Given the description of an element on the screen output the (x, y) to click on. 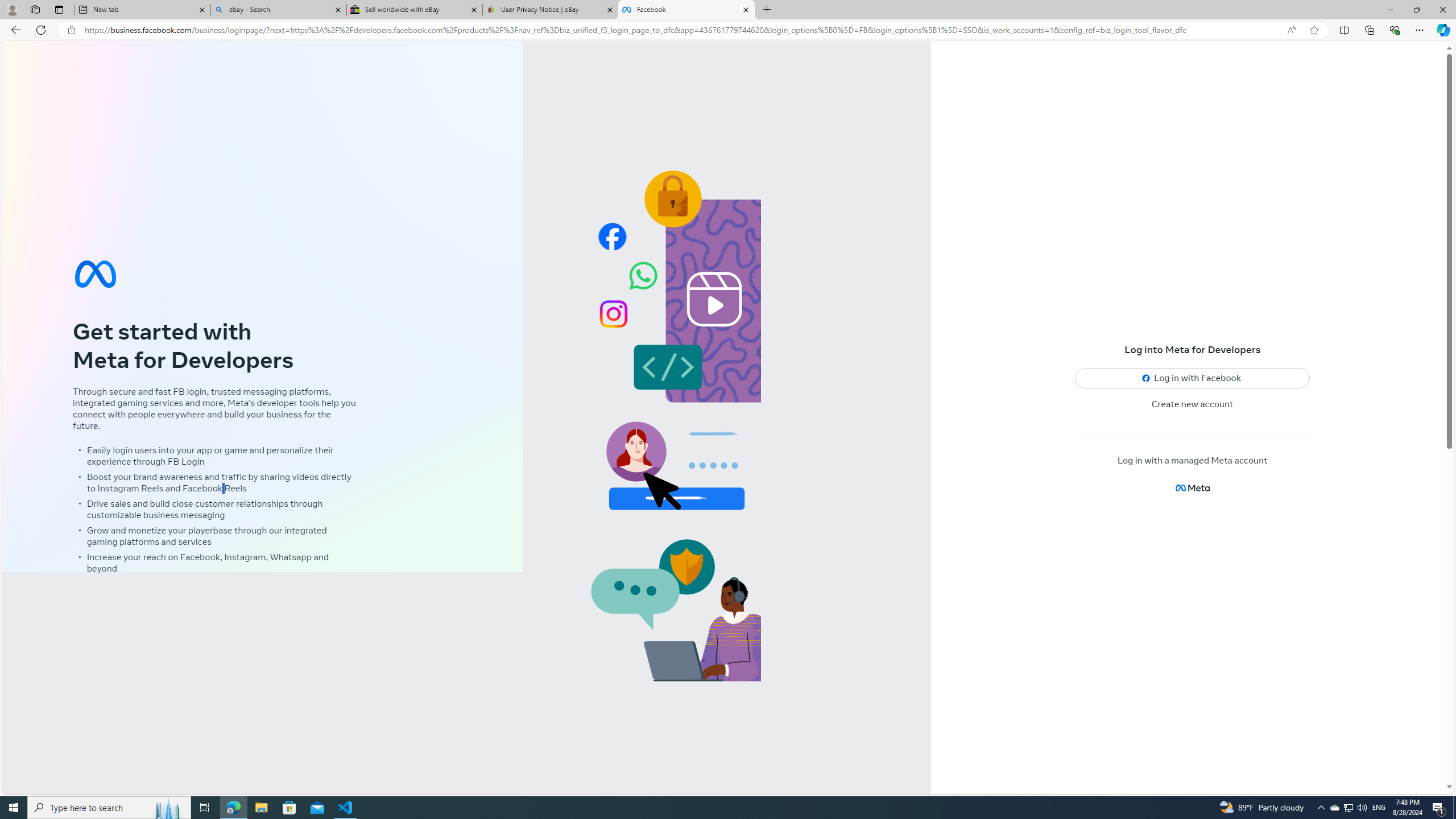
User Privacy Notice | eBay (550, 9)
Meta logo (1191, 488)
Create new account (1192, 404)
